Given the description of an element on the screen output the (x, y) to click on. 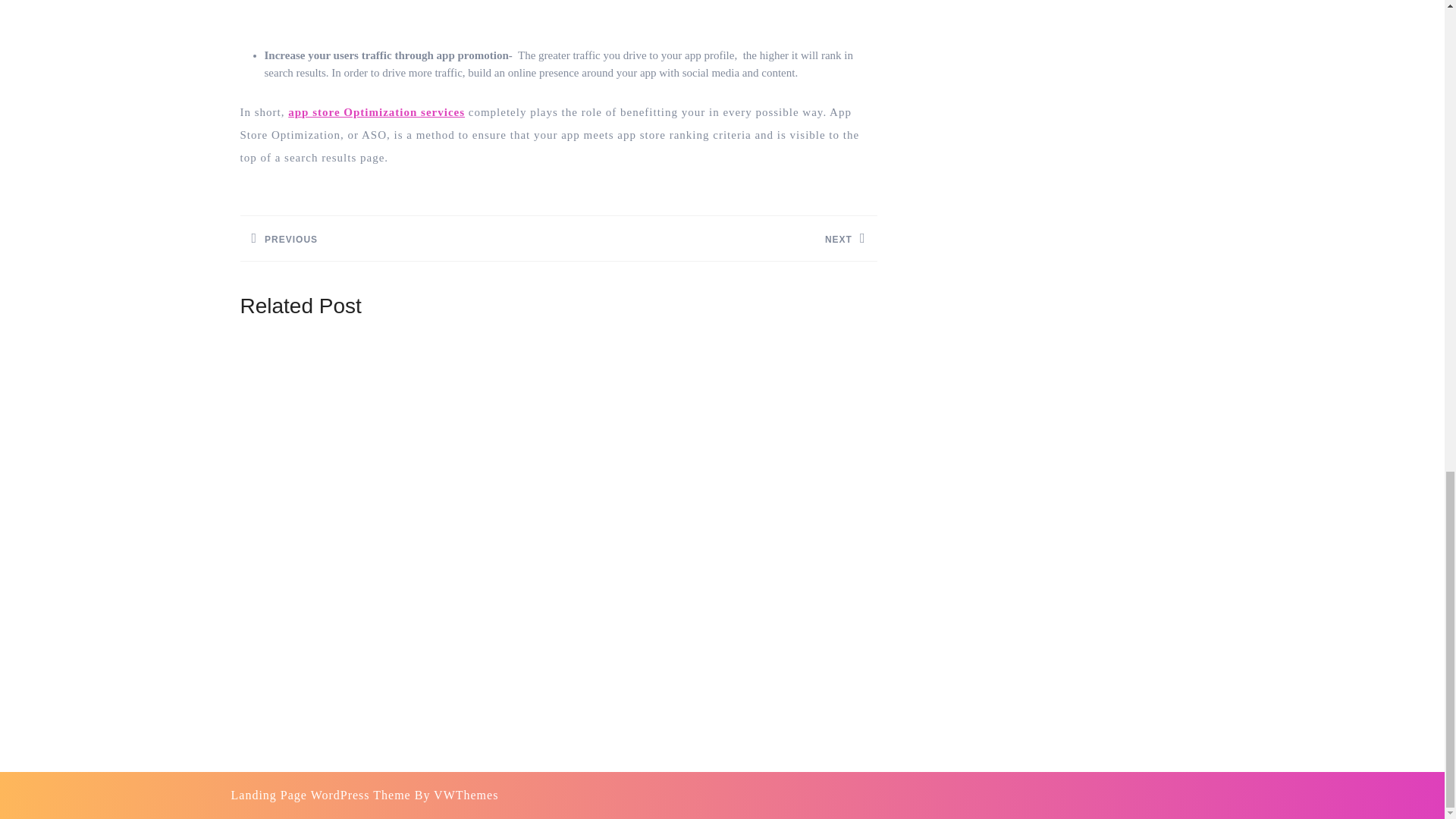
app store Optimization services (376, 111)
Landing Page WordPress Theme (320, 794)
